Given the description of an element on the screen output the (x, y) to click on. 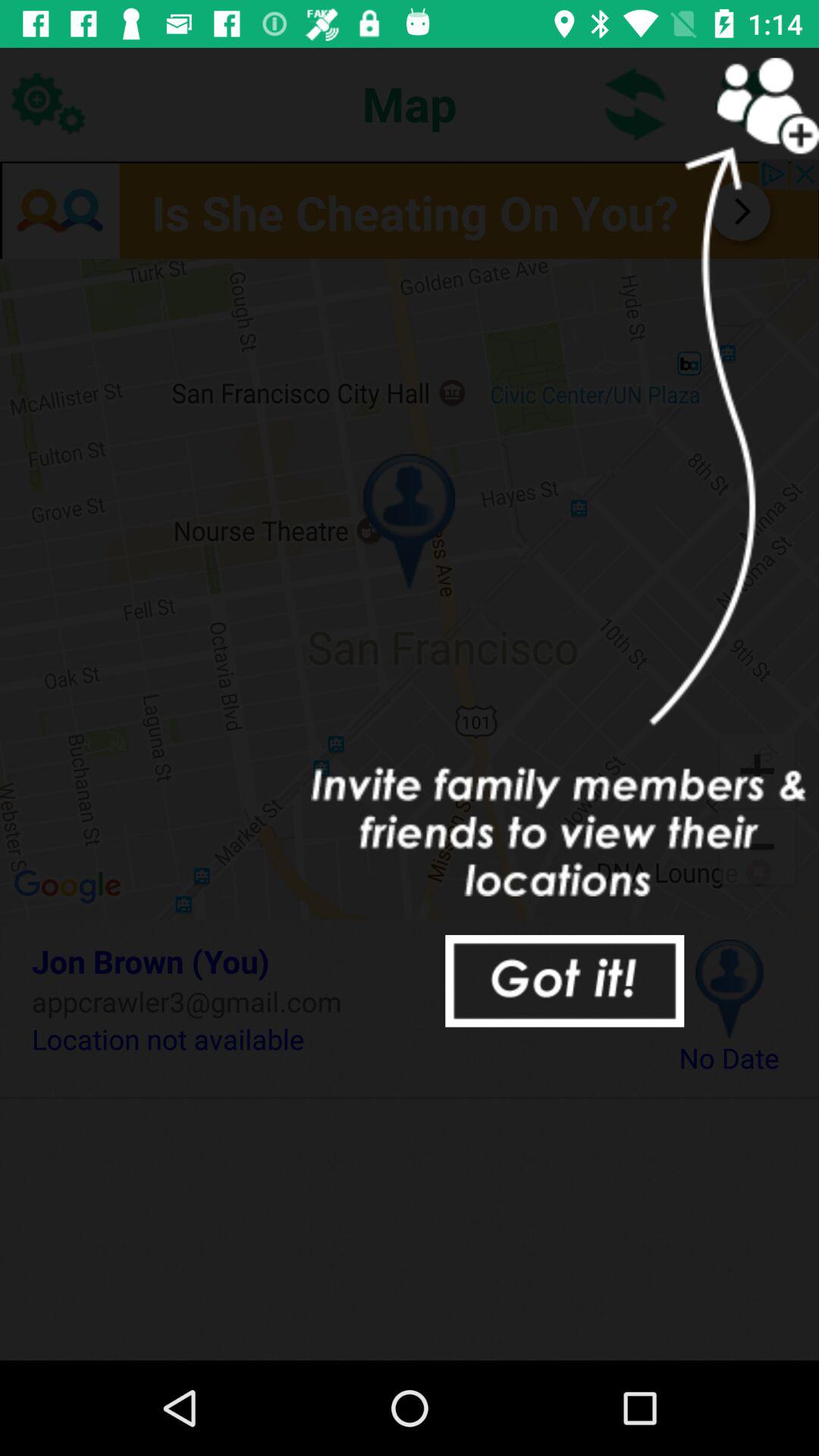
settings menu (47, 103)
